Given the description of an element on the screen output the (x, y) to click on. 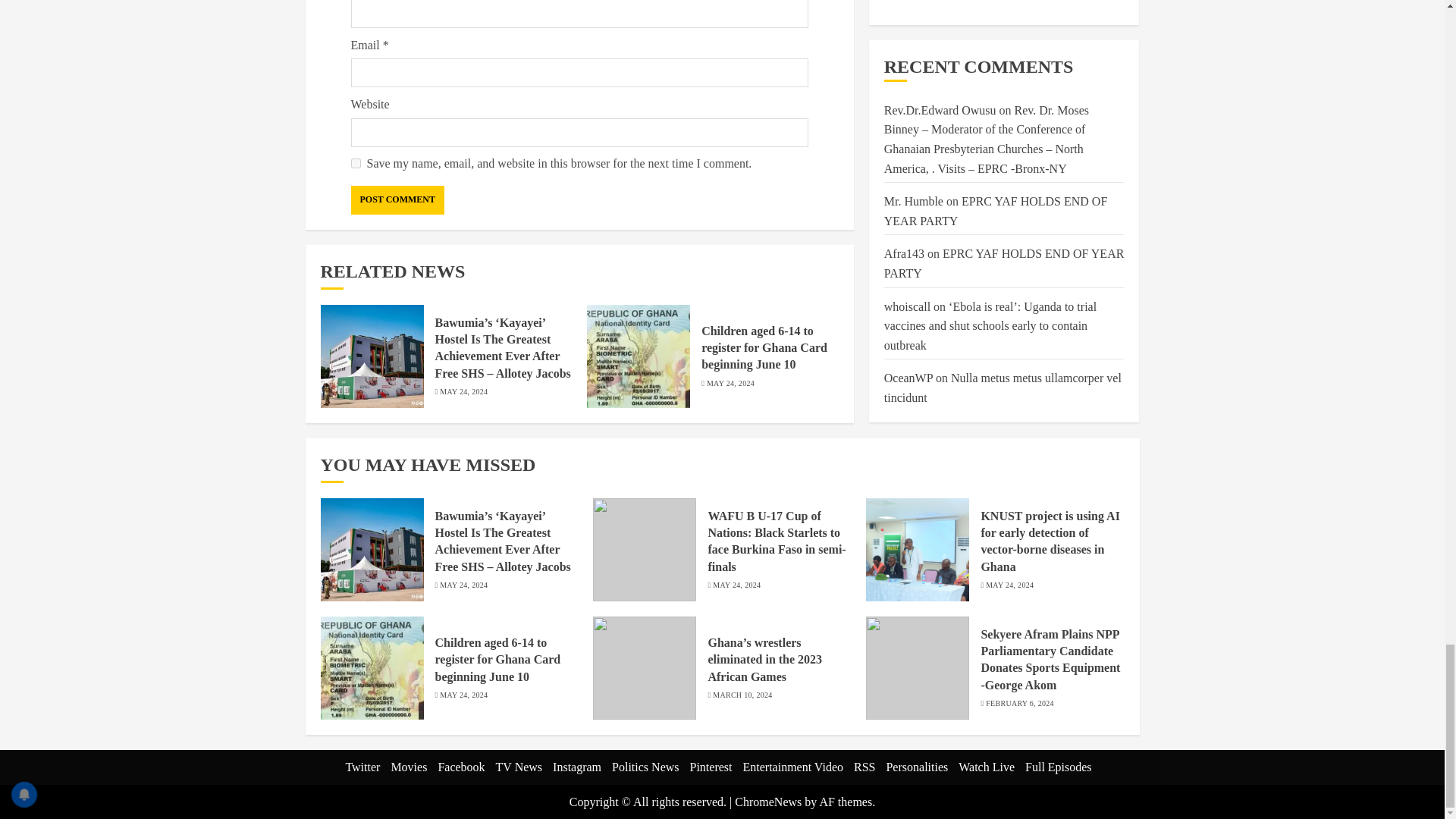
yes (354, 163)
Post Comment (397, 199)
